Given the description of an element on the screen output the (x, y) to click on. 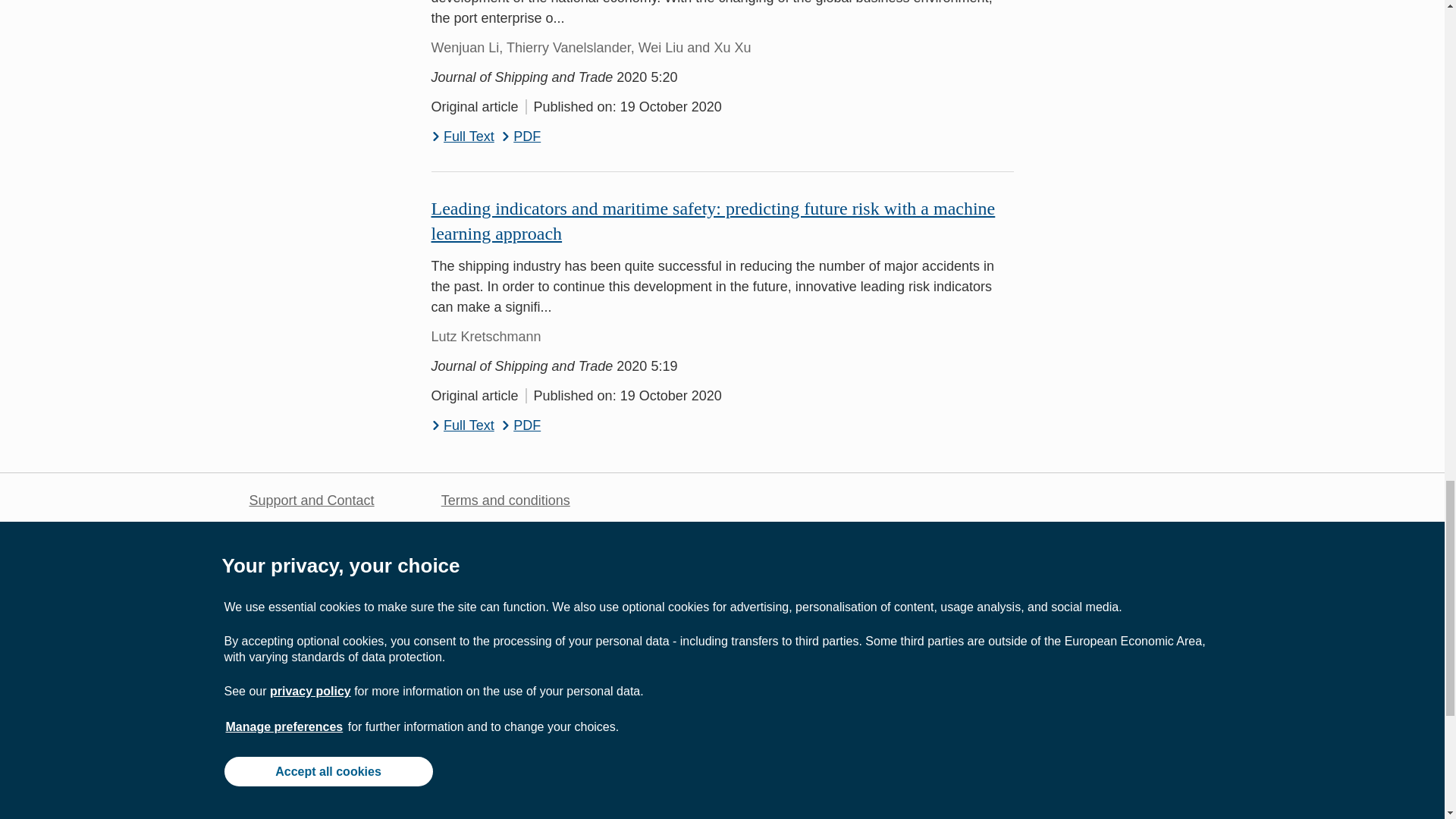
Scientific editing for authors (332, 594)
PDF (520, 425)
Jobs (263, 531)
Support and Contact (311, 500)
Accessibility (478, 562)
Full Text (461, 136)
Privacy statement (495, 531)
Full Text (461, 425)
PDF (520, 136)
Leave feedback (296, 625)
